Given the description of an element on the screen output the (x, y) to click on. 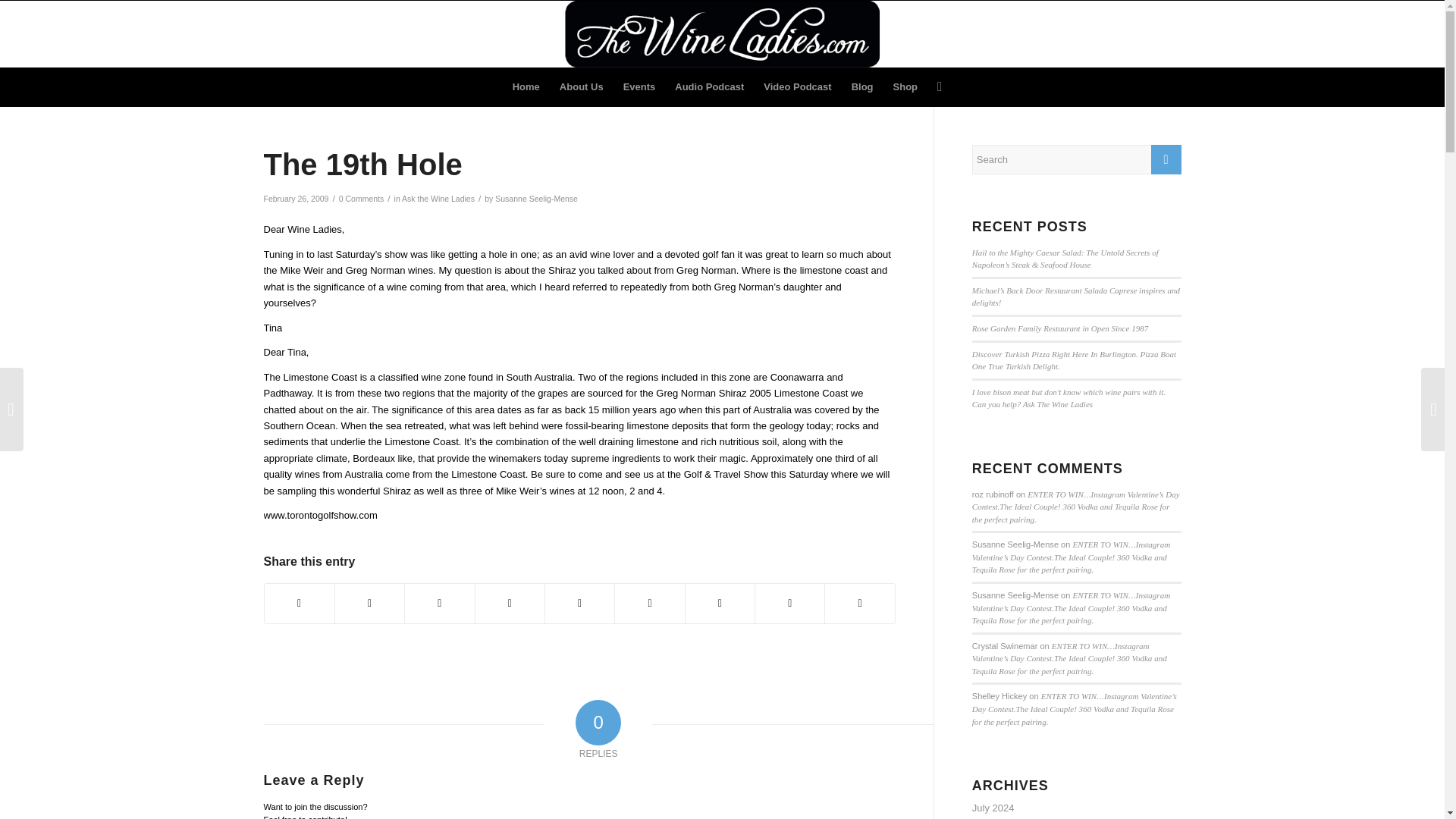
Rose Garden Family Restaurant in Open Since 1987 (1060, 327)
Ask the Wine Ladies (437, 198)
Events (638, 86)
Shop (905, 86)
Posts by Susanne Seelig-Mense (536, 198)
Blog (862, 86)
Home (526, 86)
About Us (581, 86)
0 Comments (361, 198)
Susanne Seelig-Mense (536, 198)
Audio Podcast (709, 86)
Video Podcast (797, 86)
WineLadiesLogoTransparent (722, 33)
